Given the description of an element on the screen output the (x, y) to click on. 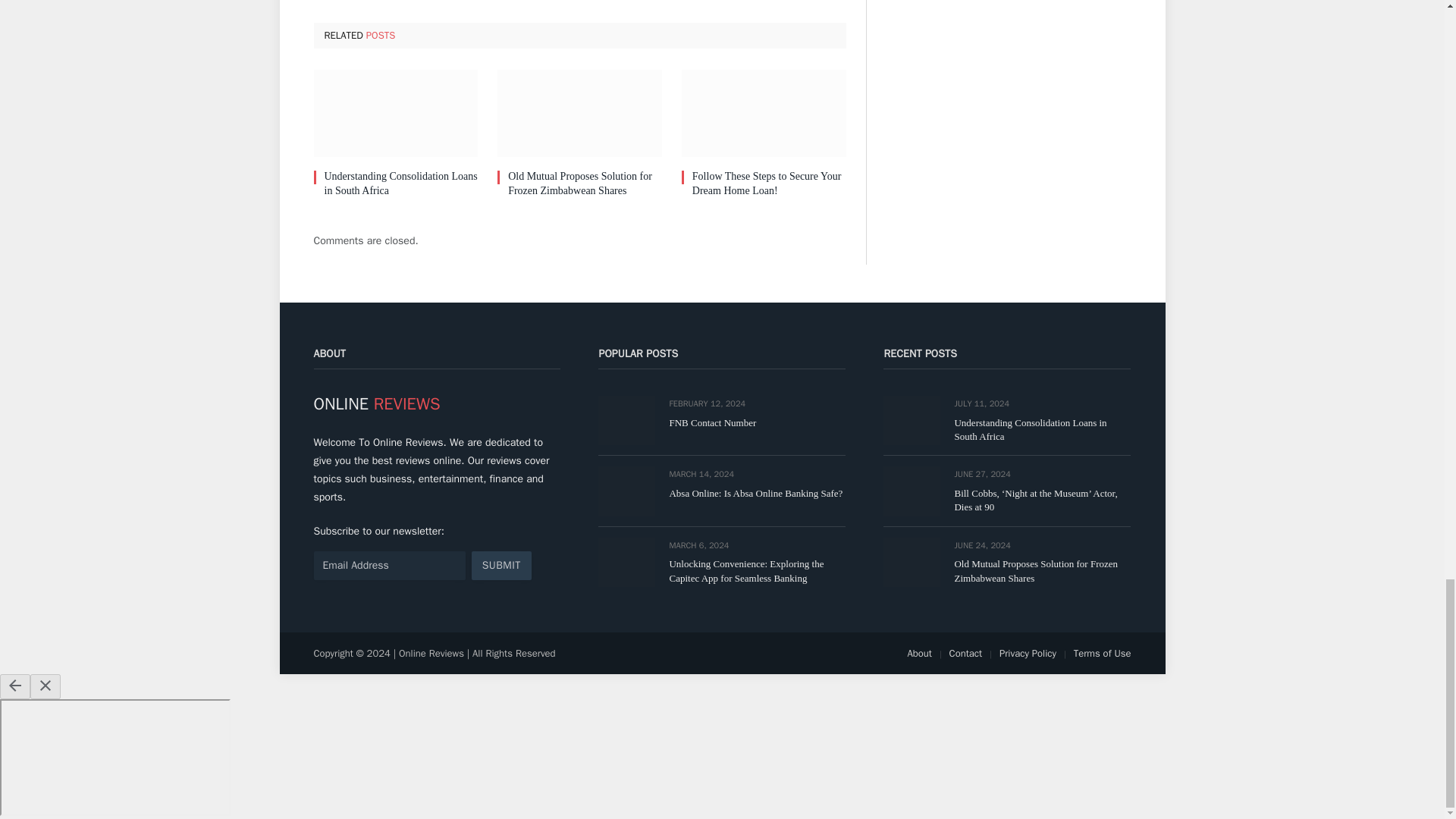
SUBMIT (501, 565)
